Given the description of an element on the screen output the (x, y) to click on. 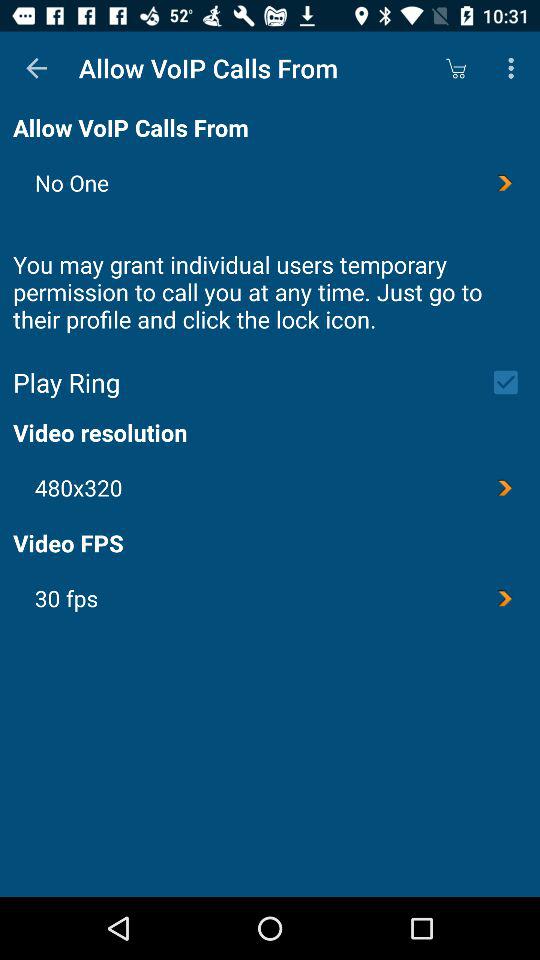
on the ring (512, 382)
